Given the description of an element on the screen output the (x, y) to click on. 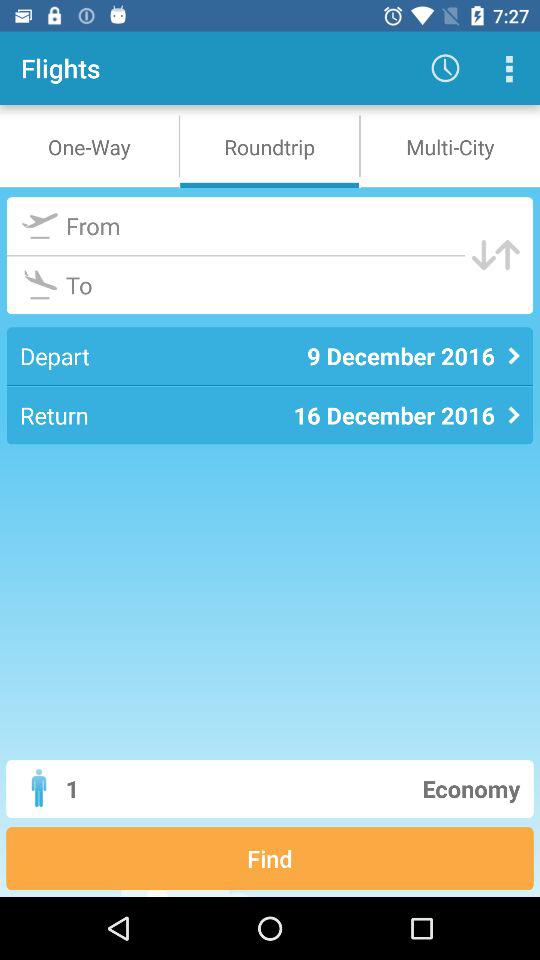
option button (508, 67)
